Given the description of an element on the screen output the (x, y) to click on. 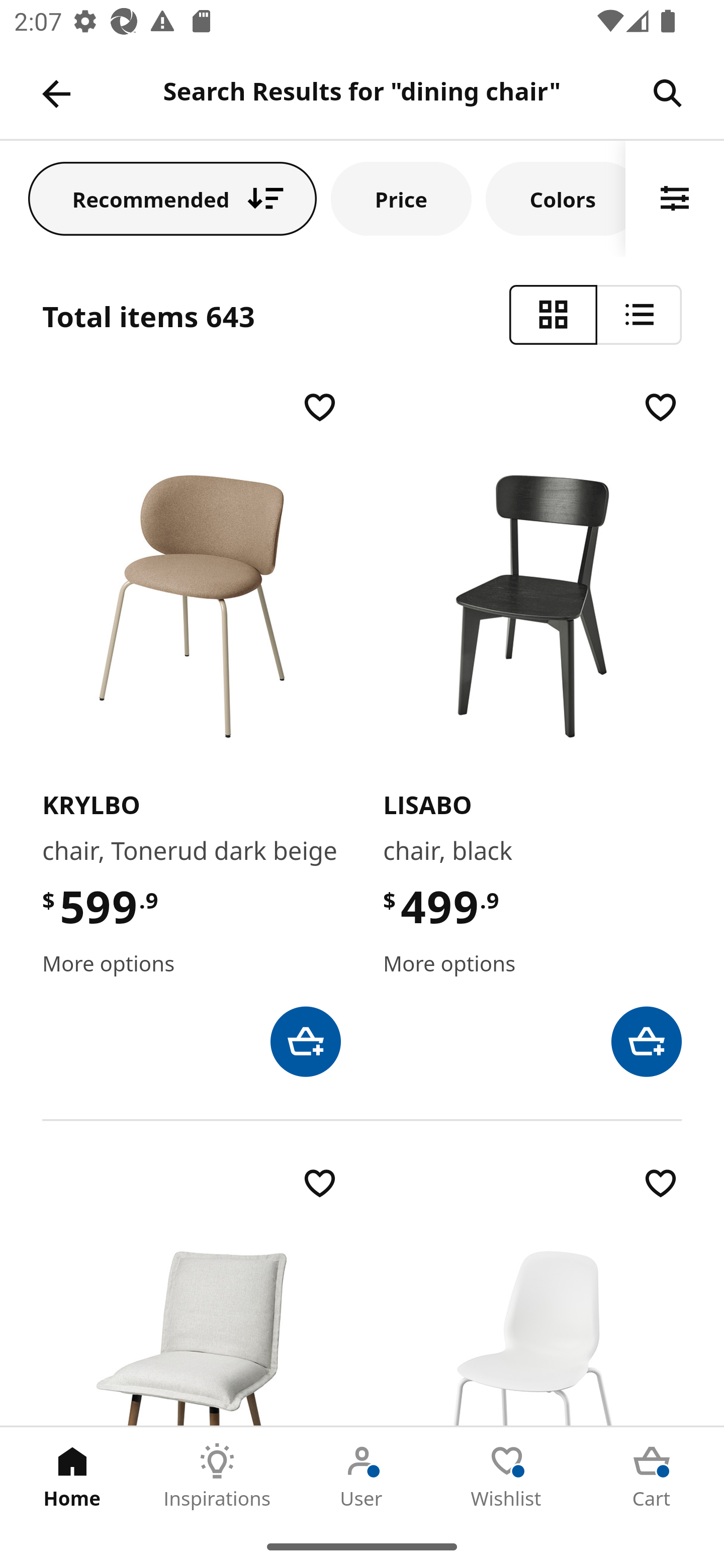
Recommended (172, 198)
Price (400, 198)
Colors (555, 198)
​L​I​S​A​B​O​
chair, black
$
499
.9
More options (532, 732)
Home
Tab 1 of 5 (72, 1476)
Inspirations
Tab 2 of 5 (216, 1476)
User
Tab 3 of 5 (361, 1476)
Wishlist
Tab 4 of 5 (506, 1476)
Cart
Tab 5 of 5 (651, 1476)
